Given the description of an element on the screen output the (x, y) to click on. 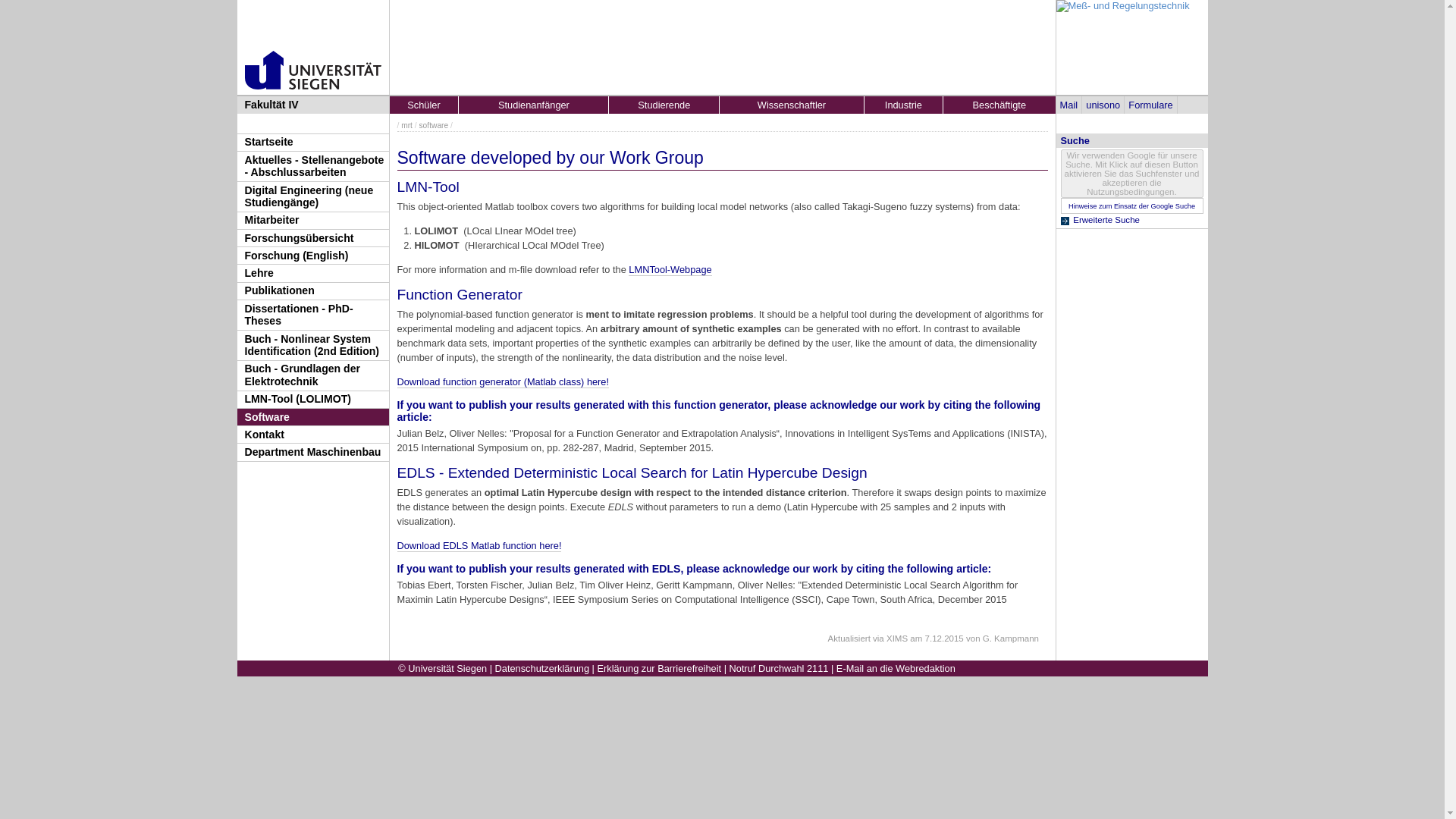
LMNTool-Webpage (669, 269)
Formulare (1150, 104)
Wissenschaftler (791, 104)
Mail (1068, 104)
Publikationen (311, 290)
Software (311, 416)
Startseite (311, 142)
software (433, 125)
Mitarbeiter (311, 220)
mrt (406, 125)
